Given the description of an element on the screen output the (x, y) to click on. 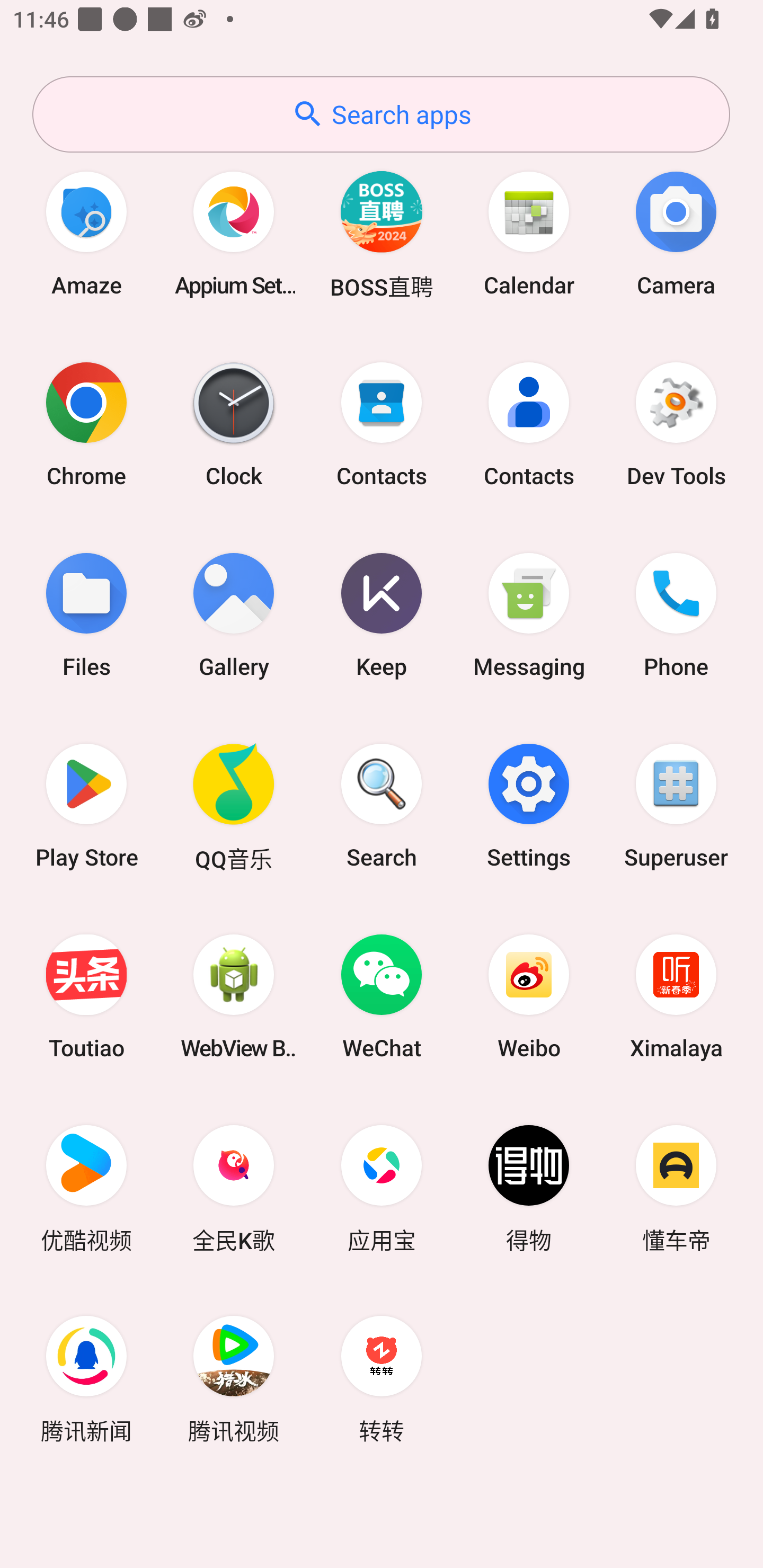
  Search apps (381, 114)
Amaze (86, 233)
Appium Settings (233, 233)
BOSS直聘 (381, 233)
Calendar (528, 233)
Camera (676, 233)
Chrome (86, 424)
Clock (233, 424)
Contacts (381, 424)
Contacts (528, 424)
Dev Tools (676, 424)
Files (86, 614)
Gallery (233, 614)
Keep (381, 614)
Messaging (528, 614)
Phone (676, 614)
Play Store (86, 805)
QQ音乐 (233, 805)
Search (381, 805)
Settings (528, 805)
Superuser (676, 805)
Toutiao (86, 996)
WebView Browser Tester (233, 996)
WeChat (381, 996)
Weibo (528, 996)
Ximalaya (676, 996)
优酷视频 (86, 1186)
全民K歌 (233, 1186)
应用宝 (381, 1186)
得物 (528, 1186)
懂车帝 (676, 1186)
腾讯新闻 (86, 1377)
腾讯视频 (233, 1377)
转转 (381, 1377)
